Given the description of an element on the screen output the (x, y) to click on. 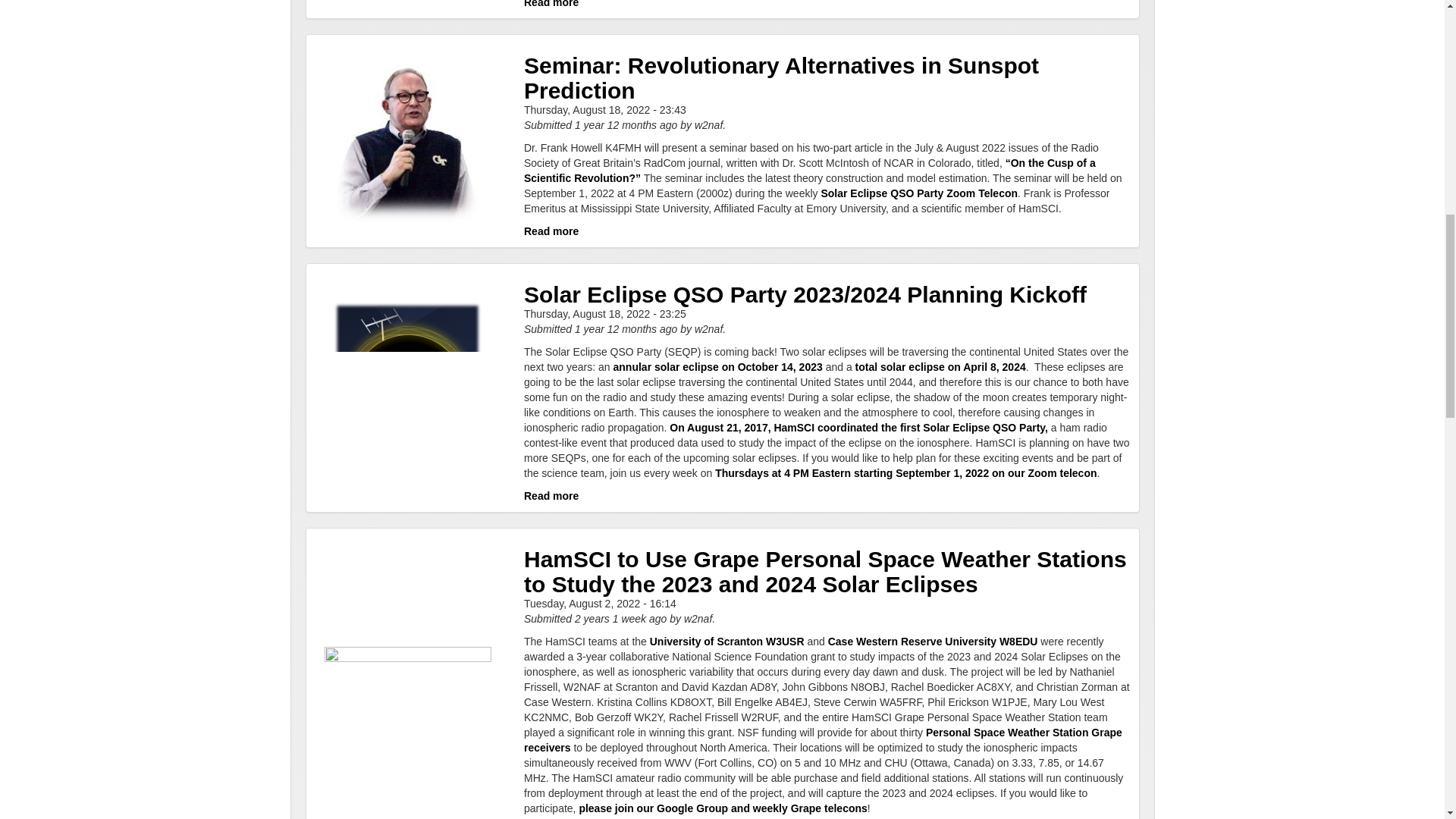
total solar eclipse on April 8, 2024 (941, 367)
Seminar: Revolutionary Alternatives in Sunspot Prediction (781, 78)
Case Western Reserve University W8EDU (933, 641)
Read more (551, 231)
annular solar eclipse on October 14, 2023 (717, 367)
Read more (551, 495)
Read more (551, 4)
